Given the description of an element on the screen output the (x, y) to click on. 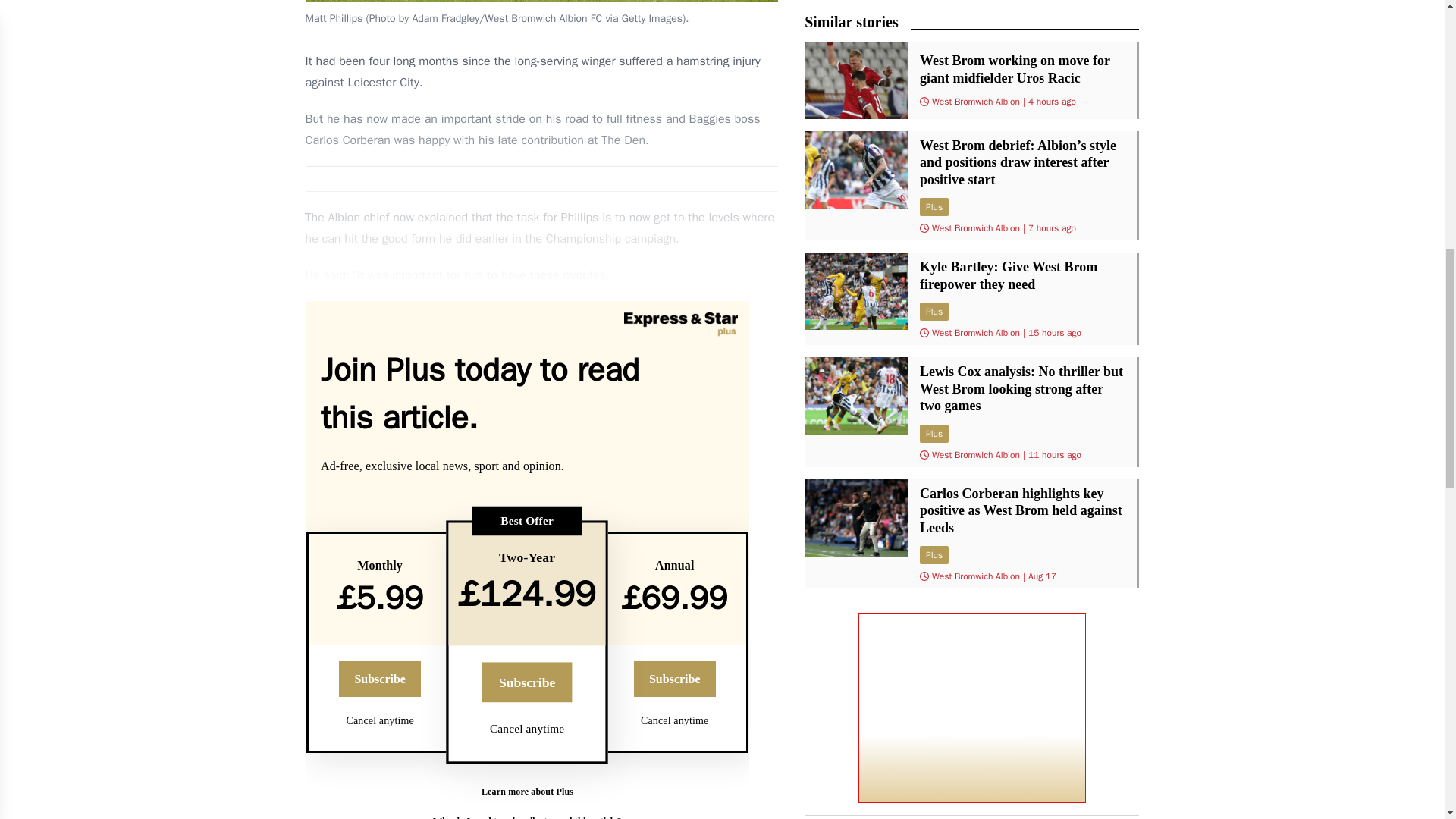
West Bromwich Albion (975, 576)
West Bromwich Albion (975, 454)
West Bromwich Albion (975, 101)
3rd party ad content (972, 708)
West Bromwich Albion (975, 332)
West Bromwich Albion (975, 227)
